Given the description of an element on the screen output the (x, y) to click on. 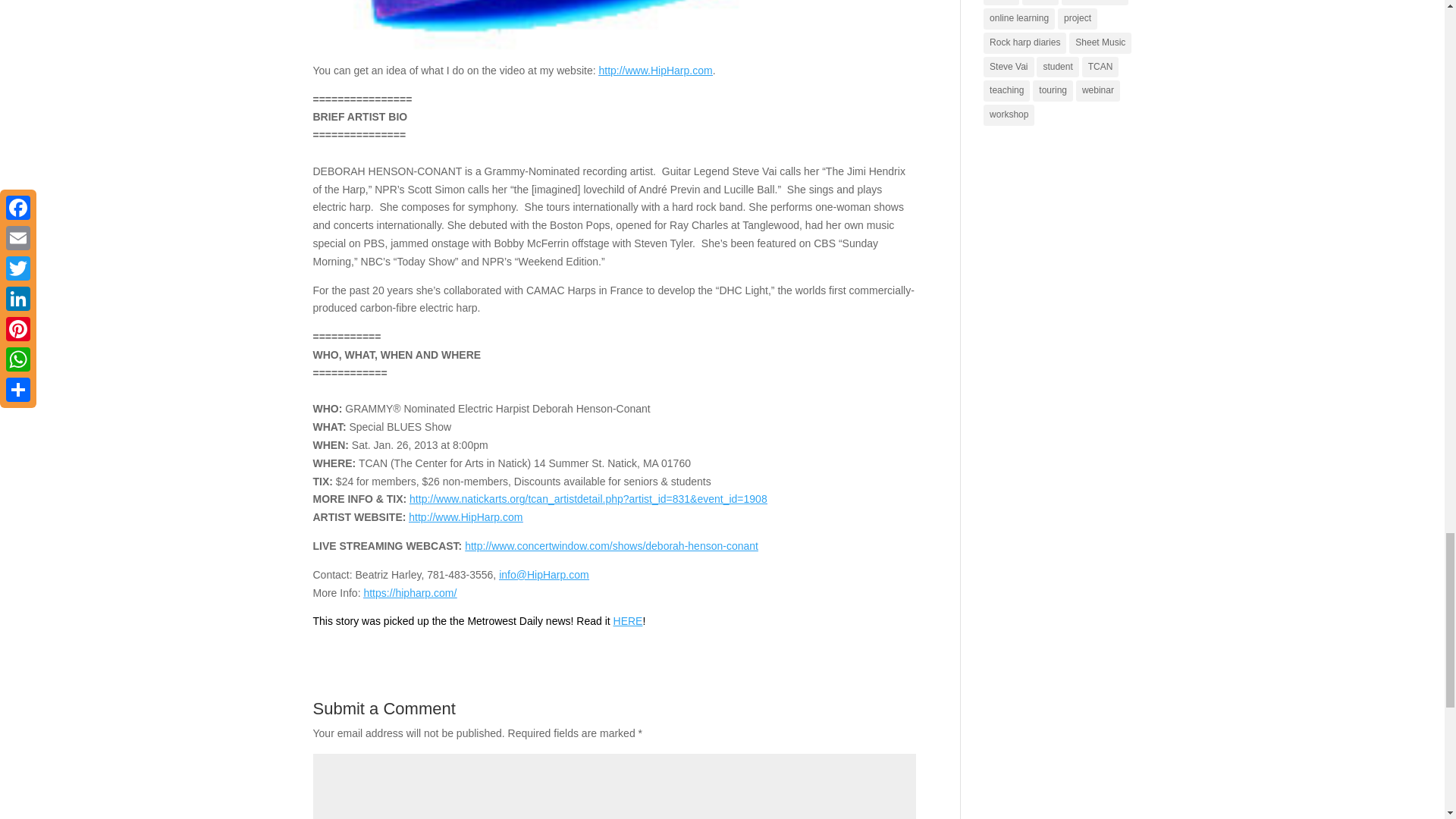
DHC Live on Concert Window Streaming (611, 545)
